Given the description of an element on the screen output the (x, y) to click on. 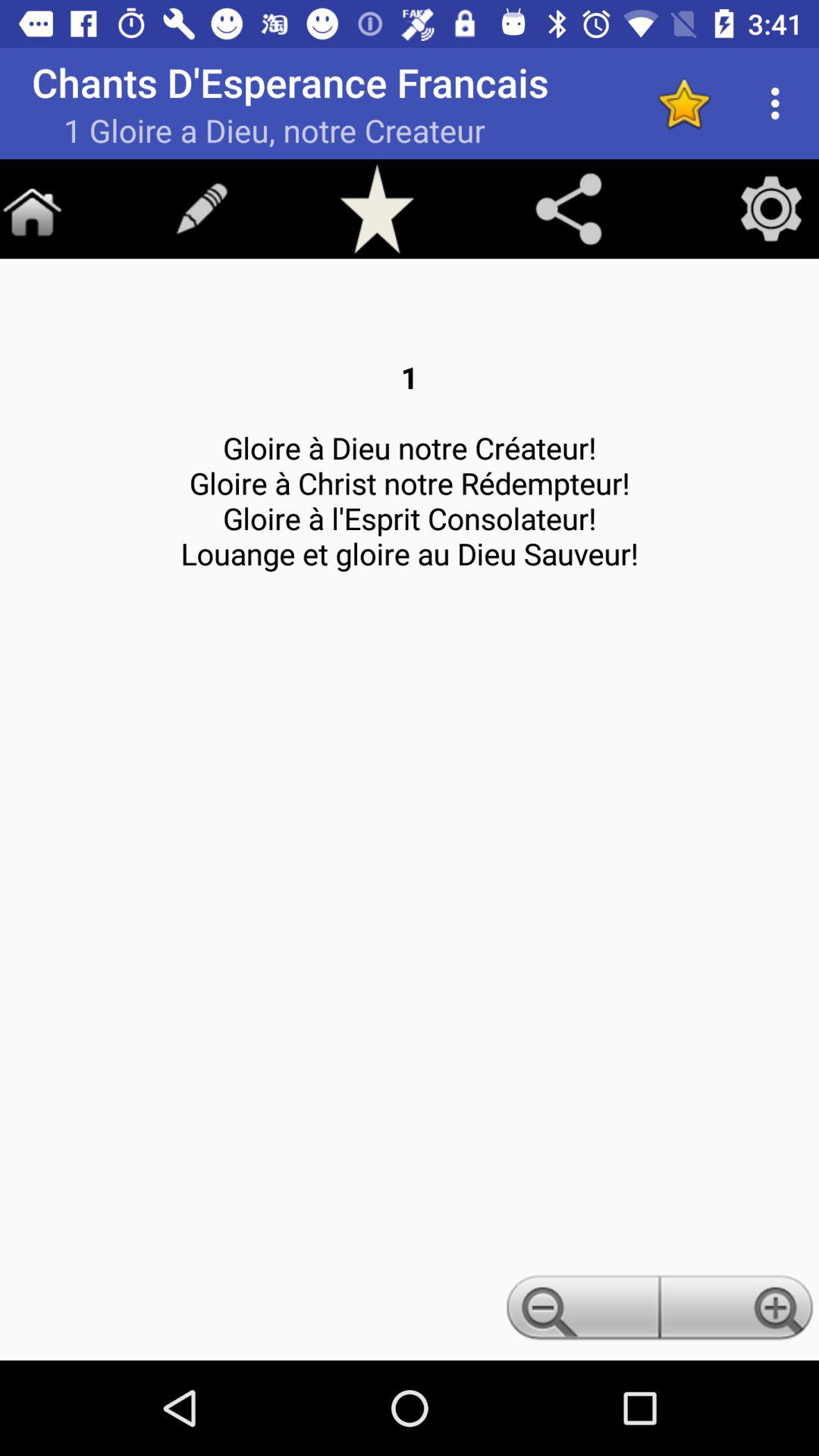
zoom out (579, 1311)
